Given the description of an element on the screen output the (x, y) to click on. 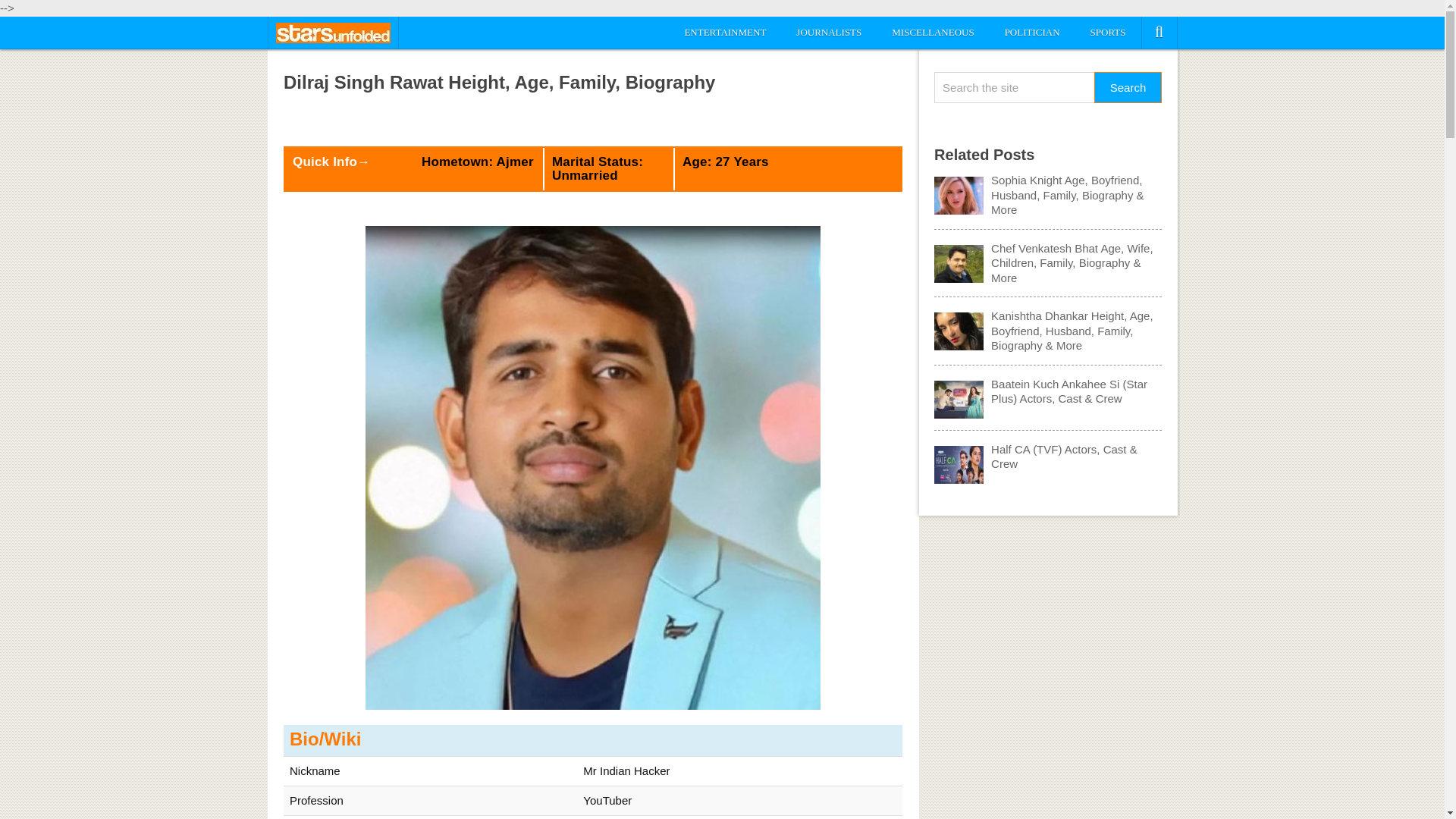
POLITICIAN (1032, 32)
MISCELLANEOUS (932, 32)
ENTERTAINMENT (724, 32)
JOURNALISTS (828, 32)
Search (1127, 87)
SPORTS (1108, 32)
Search the site (1014, 87)
